Given the description of an element on the screen output the (x, y) to click on. 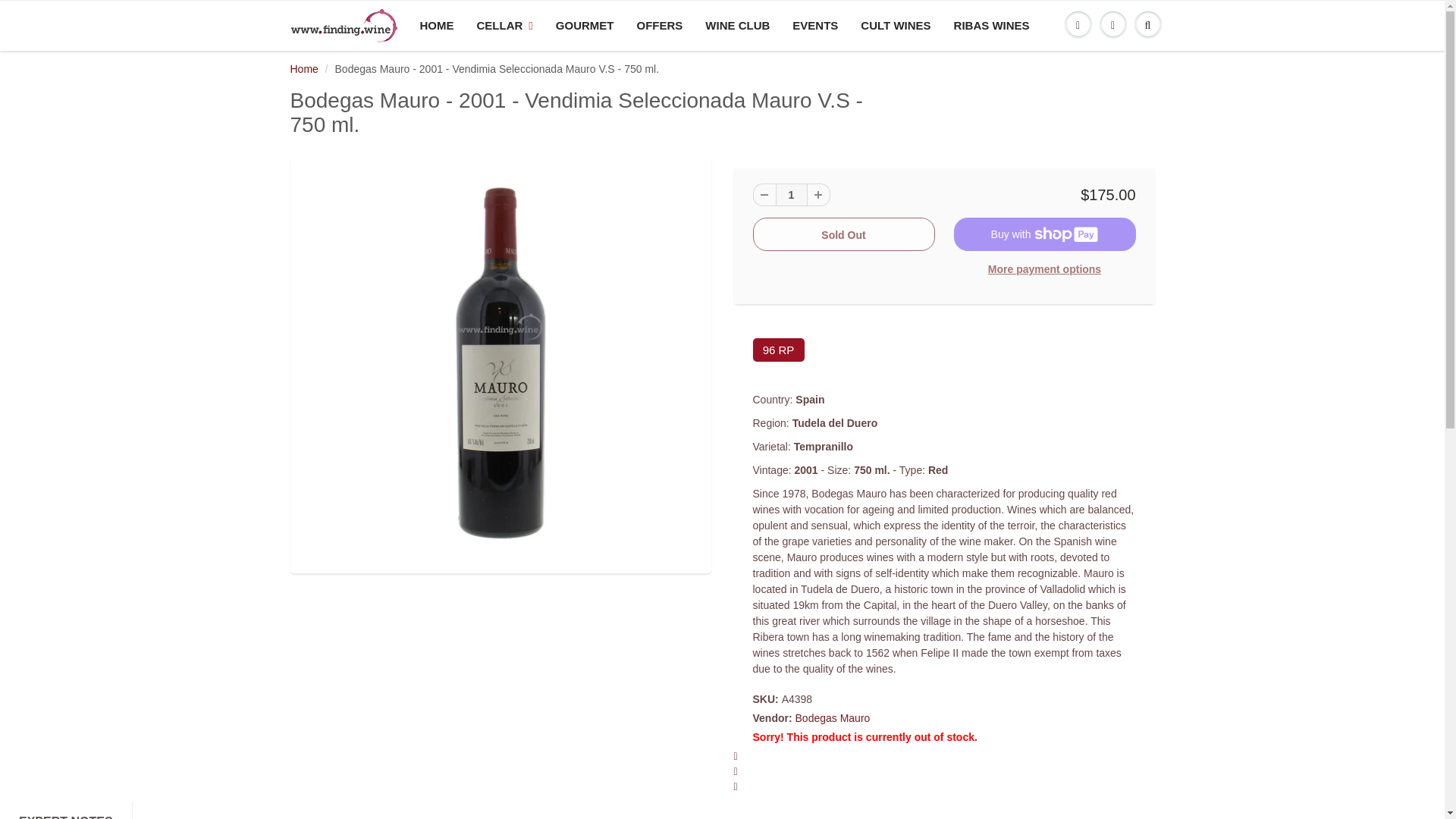
CELLAR (504, 25)
HOME (435, 25)
Home (303, 69)
Sold Out (843, 233)
1 (790, 194)
Bodegas Mauro (832, 717)
